Given the description of an element on the screen output the (x, y) to click on. 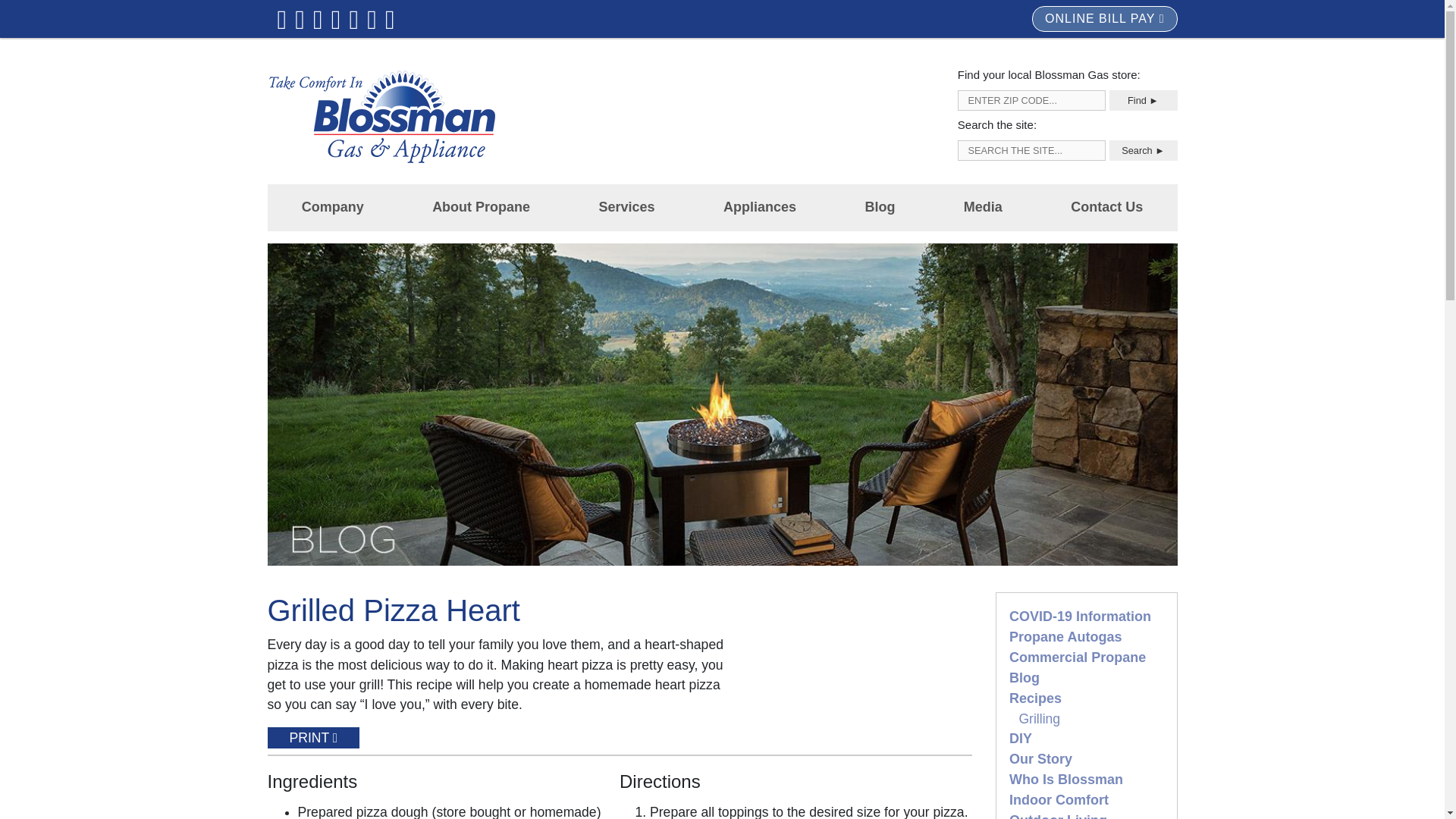
Grilled Pizza Heart (854, 691)
Blossman Gas (380, 116)
Appliances (758, 206)
ONLINE BILL PAY (1104, 18)
About Propane (480, 206)
Company (331, 206)
Services (626, 206)
